Given the description of an element on the screen output the (x, y) to click on. 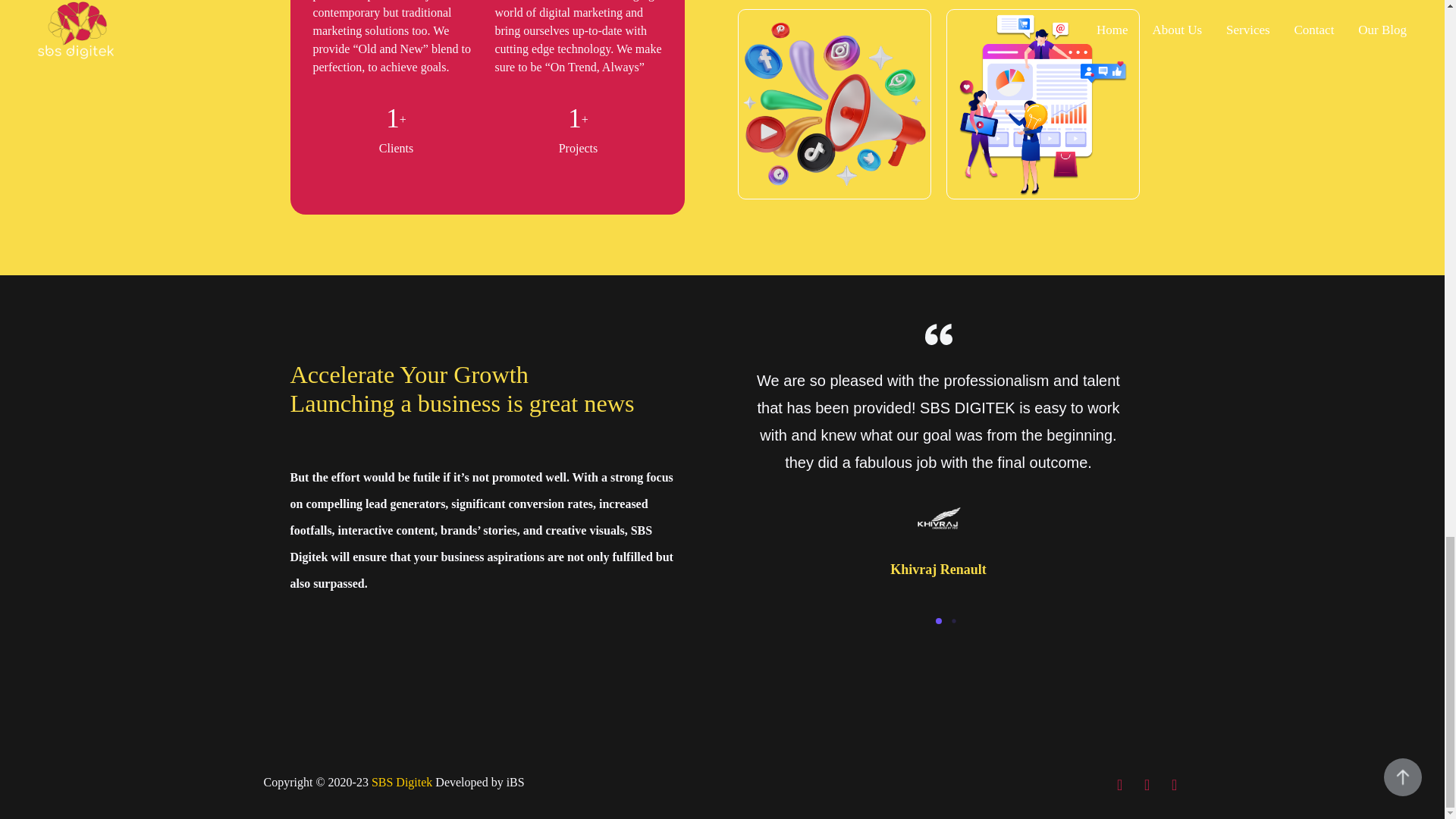
iBS (515, 781)
